Given the description of an element on the screen output the (x, y) to click on. 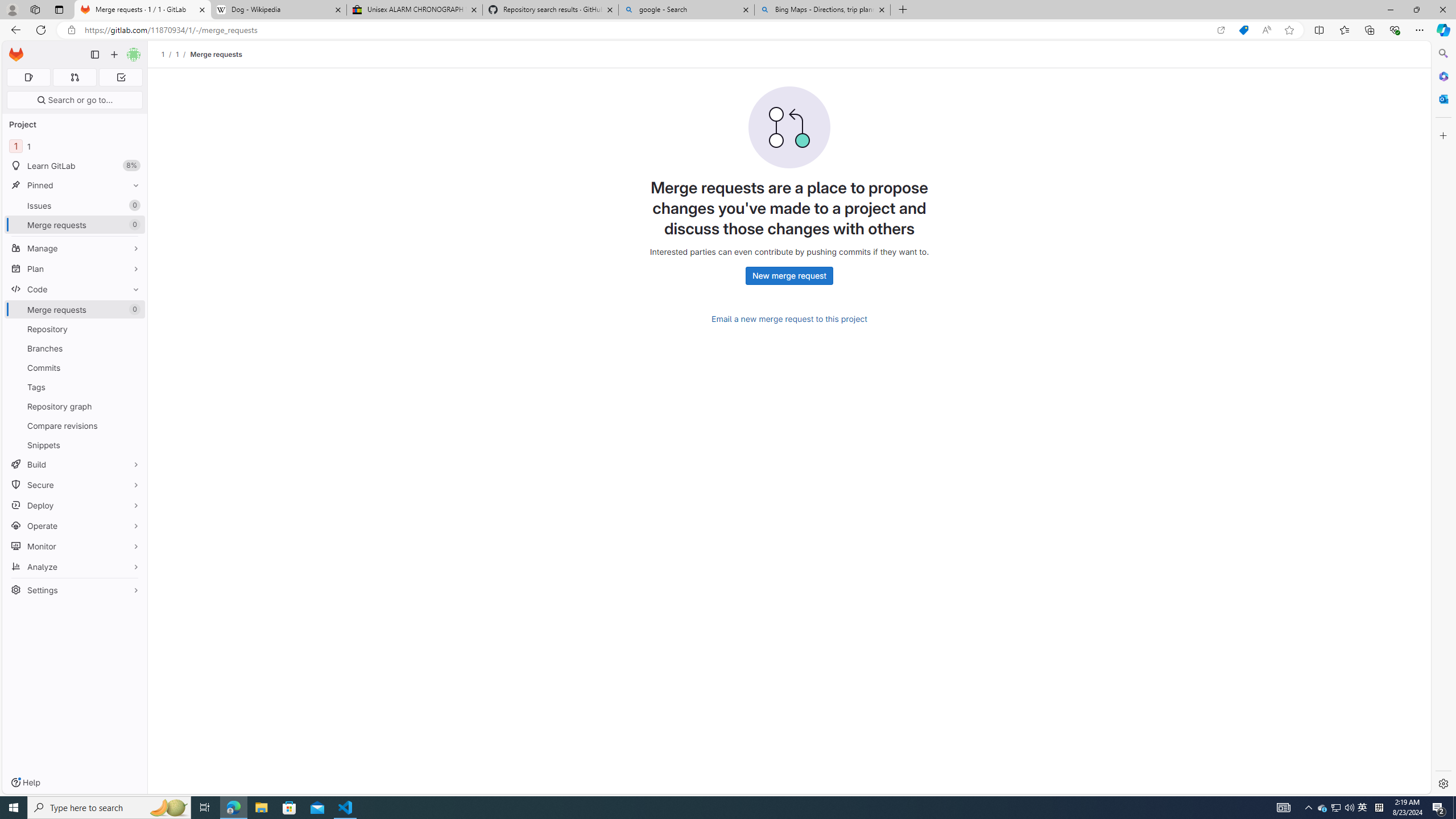
Merge requests0 (74, 309)
Primary navigation sidebar (94, 54)
11 (74, 145)
Homepage (16, 54)
google - Search (685, 9)
Issues0 (74, 205)
Operate (74, 525)
Shopping in Microsoft Edge (1243, 29)
Merge requests (215, 53)
